Given the description of an element on the screen output the (x, y) to click on. 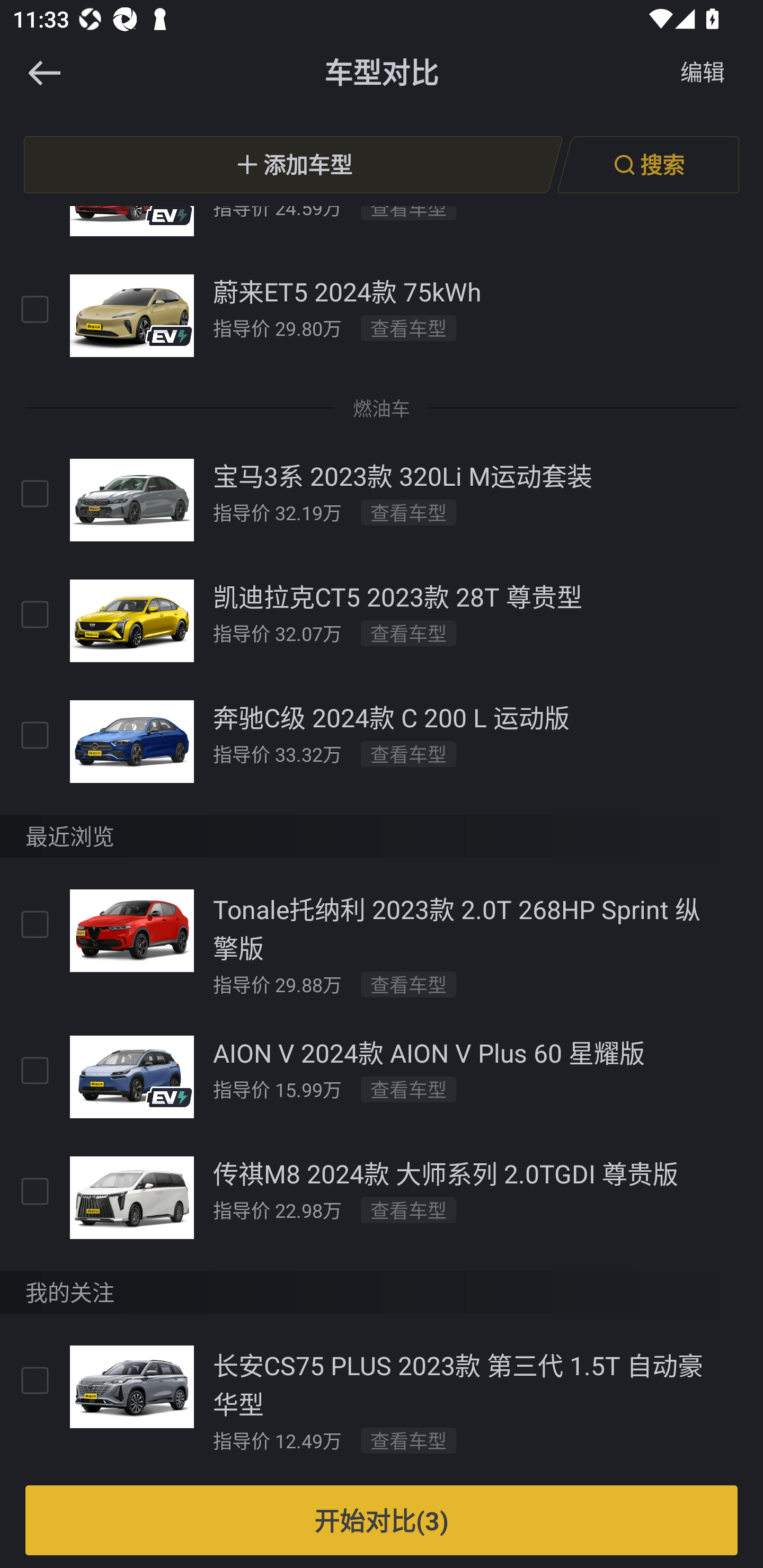
编辑 (702, 72)
 添加车型 (293, 164)
 搜索 (647, 164)
蔚来ET5 2024款 75kWh 指导价 29.80万 查看车型 (381, 315)
查看车型 (408, 328)
宝马3系 2023款 320Li M运动套装 指导价 32.19万 查看车型 (381, 499)
查看车型 (408, 512)
凯迪拉克CT5 2023款 28T 尊贵型 指导价 32.07万 查看车型 (381, 619)
查看车型 (408, 633)
奔驰C级 2024款 C 200 L 运动版 指导价 33.32万 查看车型 (381, 740)
查看车型 (408, 753)
查看车型 (408, 984)
AION V 2024款 AION V Plus 60 星耀版 指导价 15.99万 查看车型 (381, 1076)
查看车型 (408, 1088)
传祺M8 2024款 大师系列 2.0TGDI 尊贵版 指导价 22.98万 查看车型 (381, 1196)
查看车型 (408, 1210)
长安CS75 PLUS 2023款 第三代 1.5T 自动豪华型 指导价 12.49万 查看车型 (381, 1399)
查看车型 (408, 1439)
开始对比(3) (381, 1519)
